Given the description of an element on the screen output the (x, y) to click on. 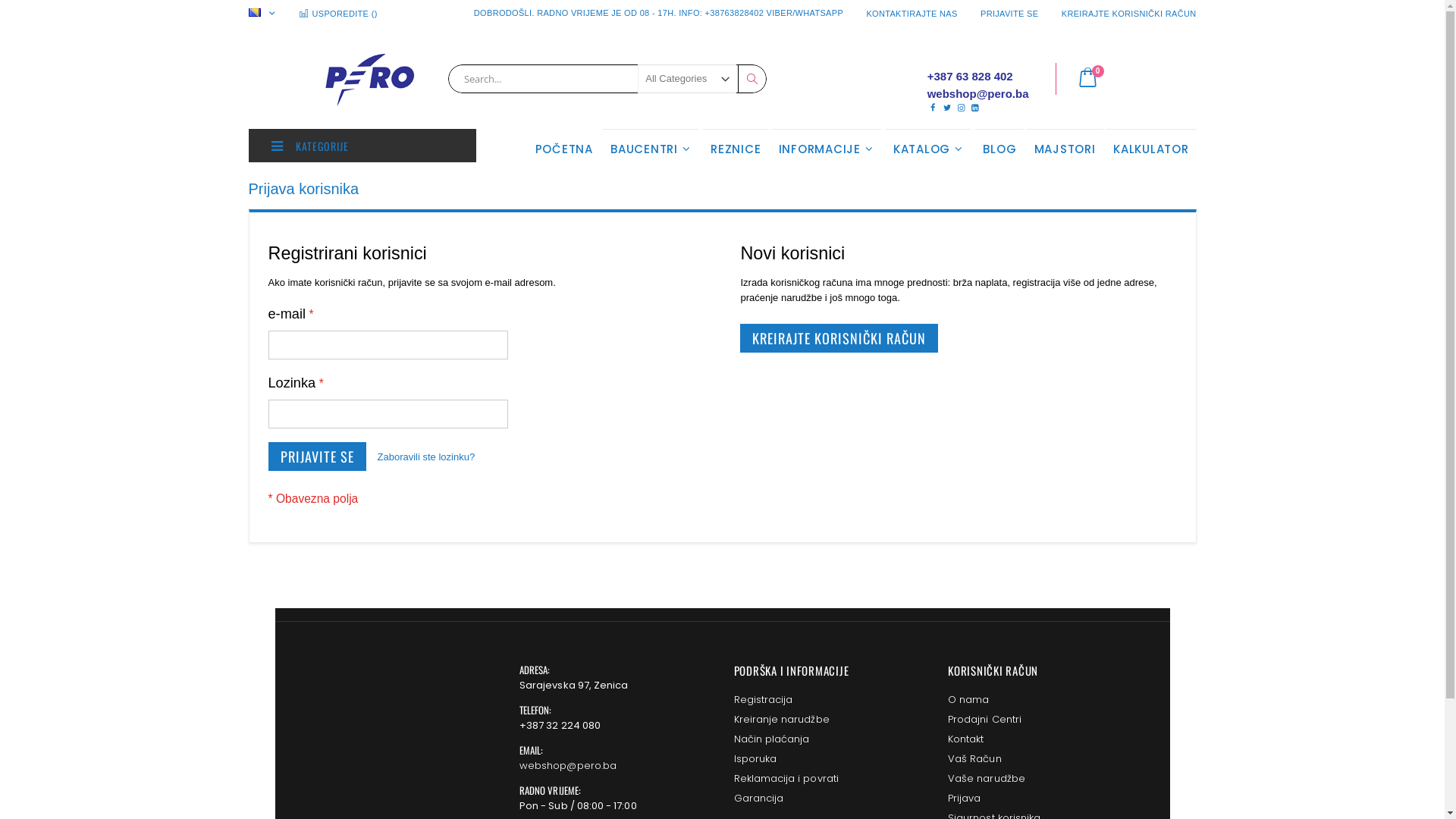
BLOG Element type: text (999, 148)
O nama Element type: text (967, 699)
PRIJAVITE SE Element type: text (317, 456)
Reklamacija i povrati Element type: text (786, 778)
Kontakt Element type: text (965, 738)
Twitter Element type: hover (946, 107)
MAJSTORI Element type: text (1064, 148)
Facebook Element type: hover (932, 107)
Zaboravili ste lozinku? Element type: text (426, 456)
USPOREDITE () Element type: text (343, 13)
INFORMACIJE Element type: text (826, 148)
Prijava Element type: text (963, 797)
KATALOG Element type: text (927, 148)
Instagram Element type: hover (960, 107)
Registracija Element type: text (763, 699)
Garancija Element type: text (759, 797)
Isporuka Element type: text (755, 758)
webshop@pero.ba Element type: text (567, 765)
KATEGORIJE Element type: text (362, 145)
e-mail Element type: hover (388, 344)
Prodajni Centri Element type: text (984, 719)
PRIJAVITE SE Element type: text (1009, 13)
Lozinka Element type: hover (388, 413)
KONTAKTIRAJTE NAS Element type: text (911, 13)
KALKULATOR Element type: text (1150, 148)
Linkedin Element type: hover (974, 107)
REZNICE Element type: text (735, 148)
BAUCENTRI Element type: text (650, 148)
Cart
0 Element type: text (1096, 78)
